Given the description of an element on the screen output the (x, y) to click on. 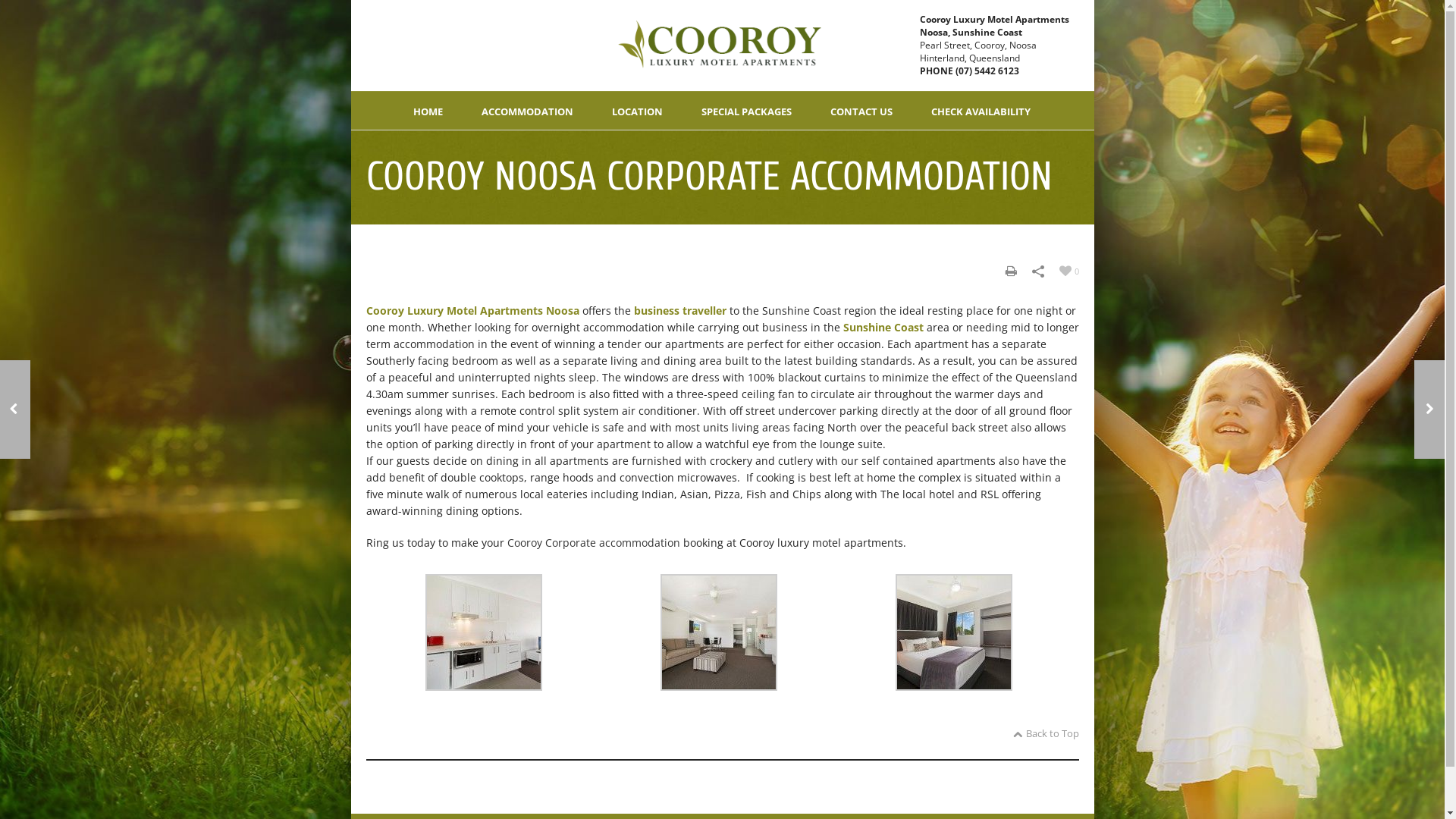
ACCOMMODATION Element type: text (527, 110)
Cooroy Luxury Motel Element type: hover (721, 45)
0 Element type: text (1068, 270)
LOCATION Element type: text (637, 110)
HOME Element type: text (427, 110)
CHECK AVAILABILITY Element type: text (980, 110)
Cooroy Noosa Family Friendly Accommodation Element type: hover (15, 409)
CONTACT US Element type: text (861, 110)
Cooroy Corporate accommodation Element type: text (592, 542)
Print Element type: hover (1010, 270)
SPECIAL PACKAGES Element type: text (746, 110)
Back to Top Element type: text (1046, 732)
Cooroy Noosa Wheelchair Accessible Accommodation Element type: hover (1429, 409)
